Given the description of an element on the screen output the (x, y) to click on. 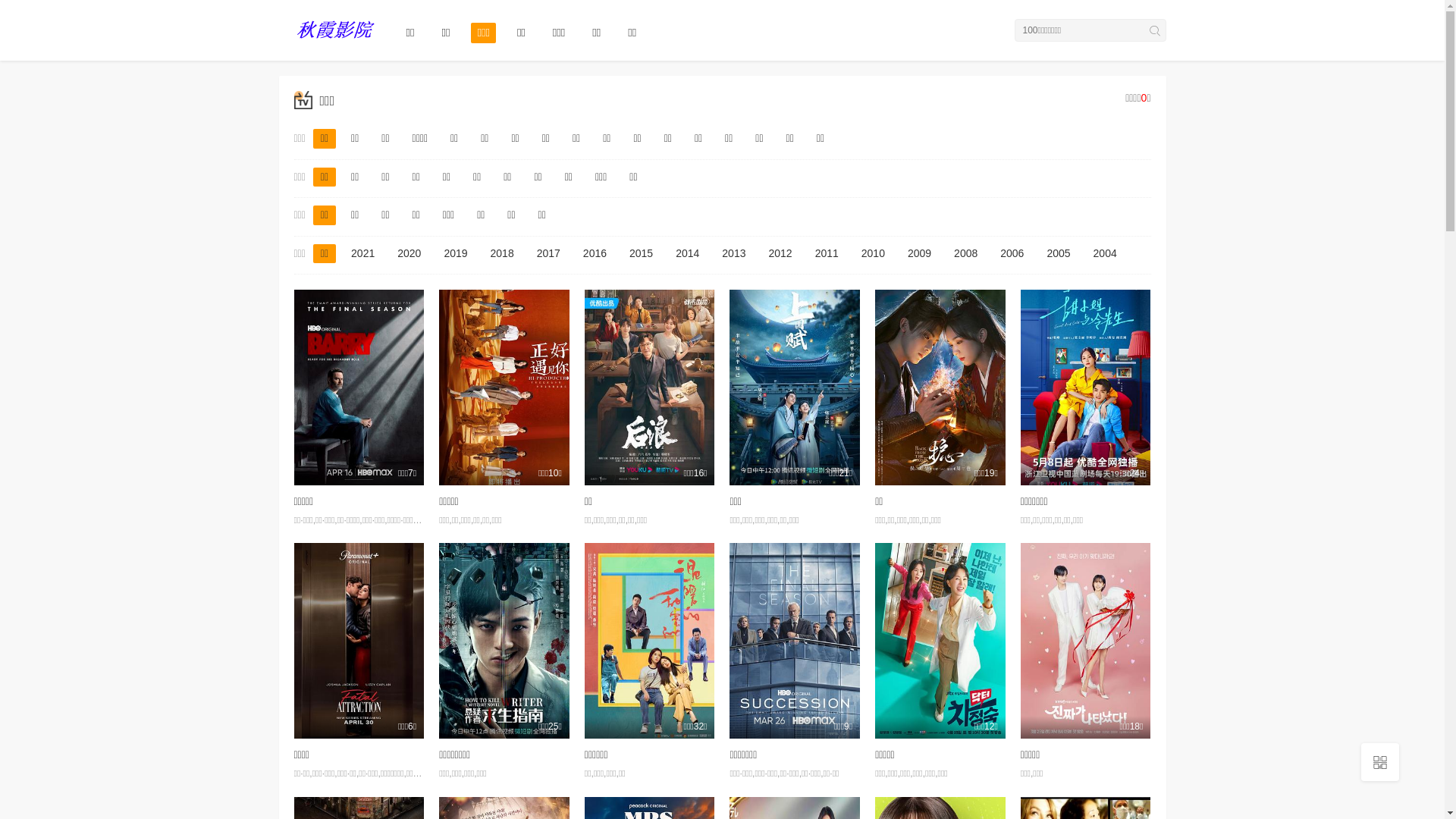
2006 Element type: text (1011, 253)
2021 Element type: text (362, 253)
2016 Element type: text (594, 253)
2012 Element type: text (779, 253)
2013 Element type: text (733, 253)
2010 Element type: text (872, 253)
2015 Element type: text (640, 253)
2014 Element type: text (687, 253)
2019 Element type: text (455, 253)
2020 Element type: text (408, 253)
2004 Element type: text (1104, 253)
2018 Element type: text (502, 253)
2017 Element type: text (548, 253)
2008 Element type: text (965, 253)
2005 Element type: text (1057, 253)
2009 Element type: text (919, 253)
2011 Element type: text (826, 253)
